Given the description of an element on the screen output the (x, y) to click on. 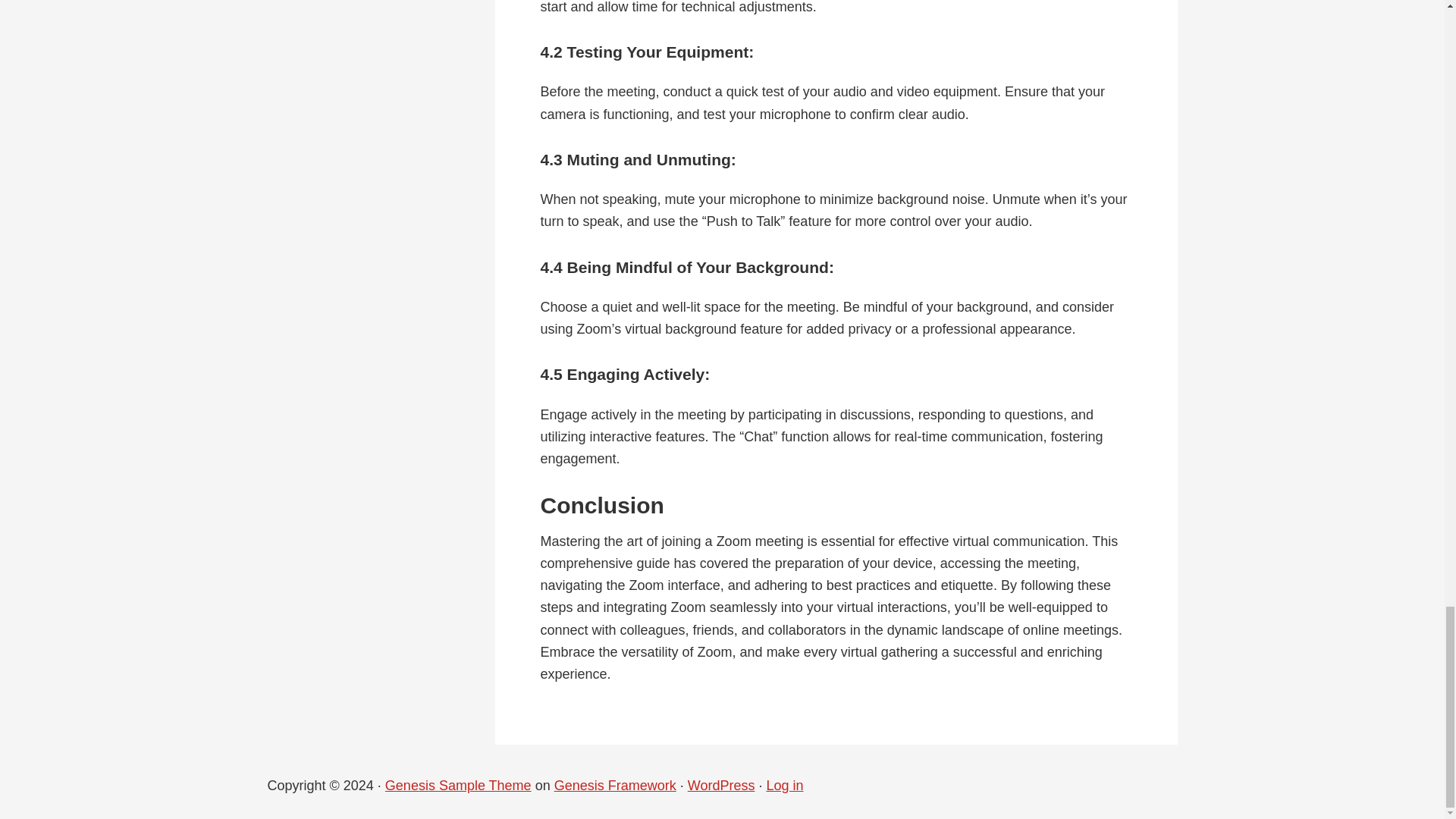
WordPress (721, 785)
Genesis Sample Theme (458, 785)
Log in (784, 785)
Genesis Framework (615, 785)
